Given the description of an element on the screen output the (x, y) to click on. 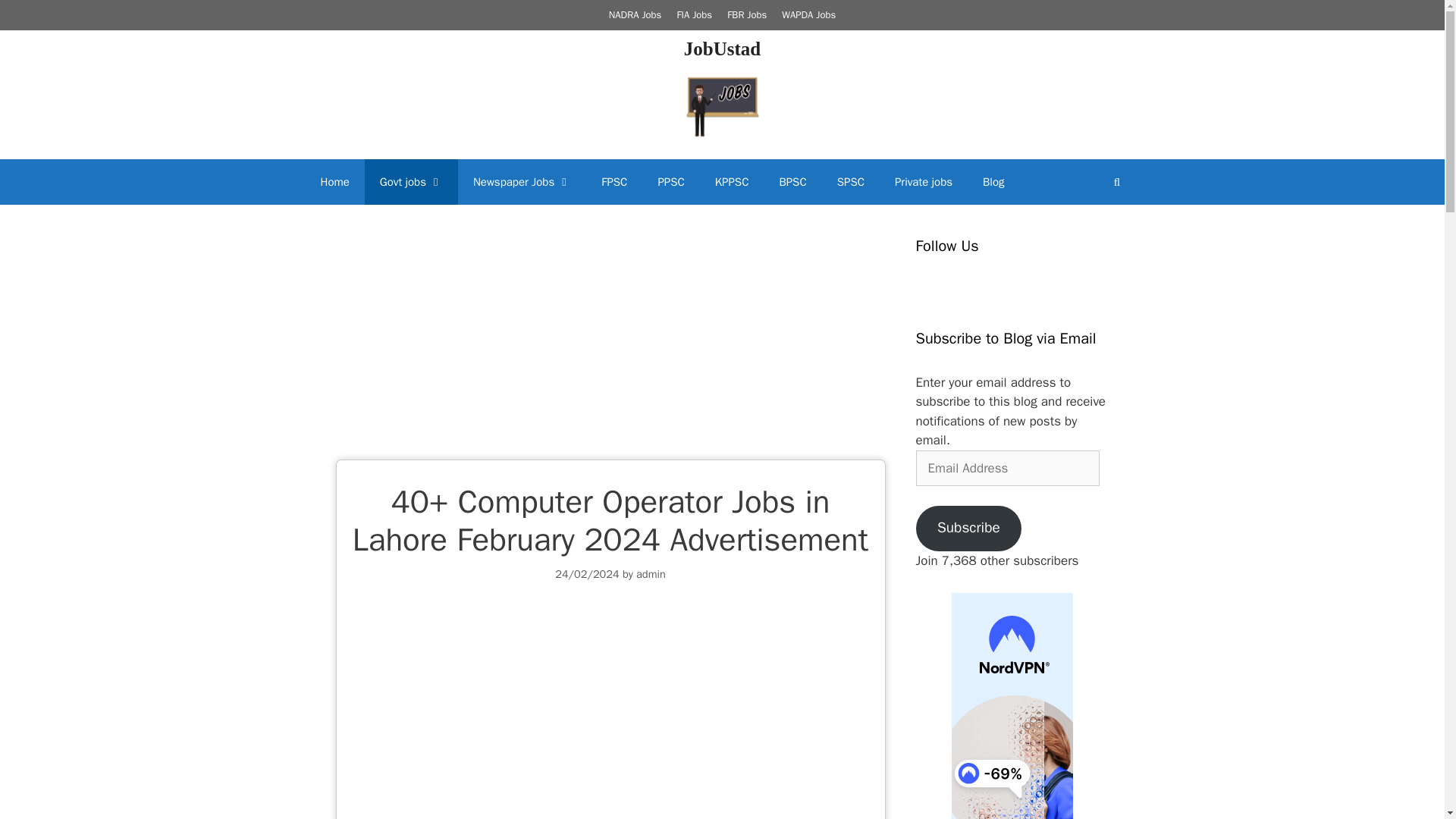
Advertisement (610, 714)
FPSC (614, 181)
FBR Jobs (746, 14)
JobUstad (722, 47)
Newspaper Jobs (522, 181)
Home (334, 181)
BPSC (791, 181)
SPSC (850, 181)
Advertisement (609, 346)
PPSC (670, 181)
